Given the description of an element on the screen output the (x, y) to click on. 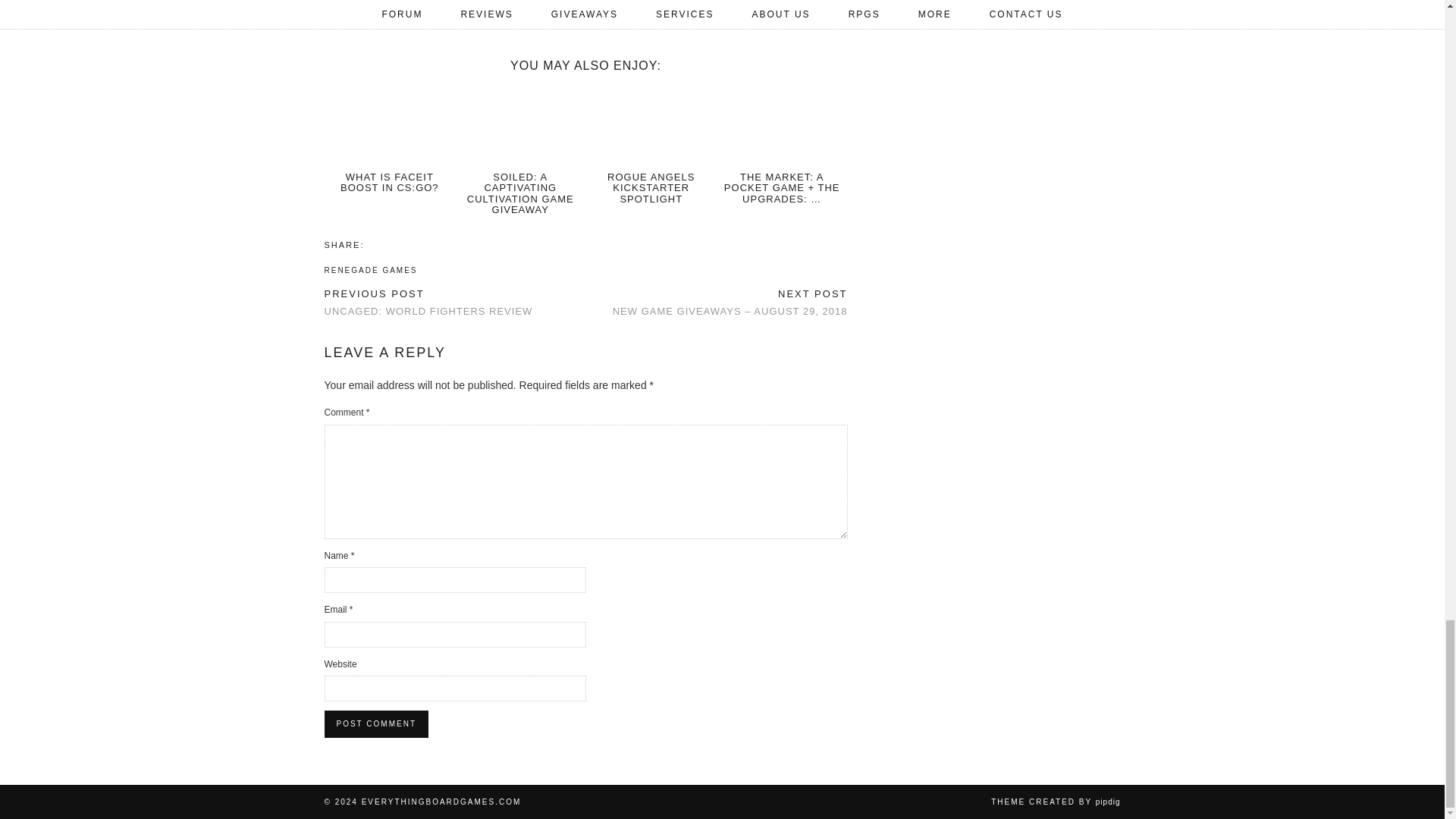
ROGUE ANGELS KICKSTARTER SPOTLIGHT (650, 187)
Post Comment (376, 723)
Soiled: A Captivating Cultivation Game Giveaway (520, 193)
RENEGADE GAMES (370, 270)
Rogue Angels Kickstarter Spotlight (651, 125)
What Is FACEIT Boost in CS:GO? (389, 125)
Rogue Angels Kickstarter Spotlight (650, 187)
WHAT IS FACEIT BOOST IN CS:GO? (389, 182)
What Is FACEIT Boost in CS:GO? (389, 182)
Soiled: A Captivating Cultivation Game Giveaway (520, 125)
